Given the description of an element on the screen output the (x, y) to click on. 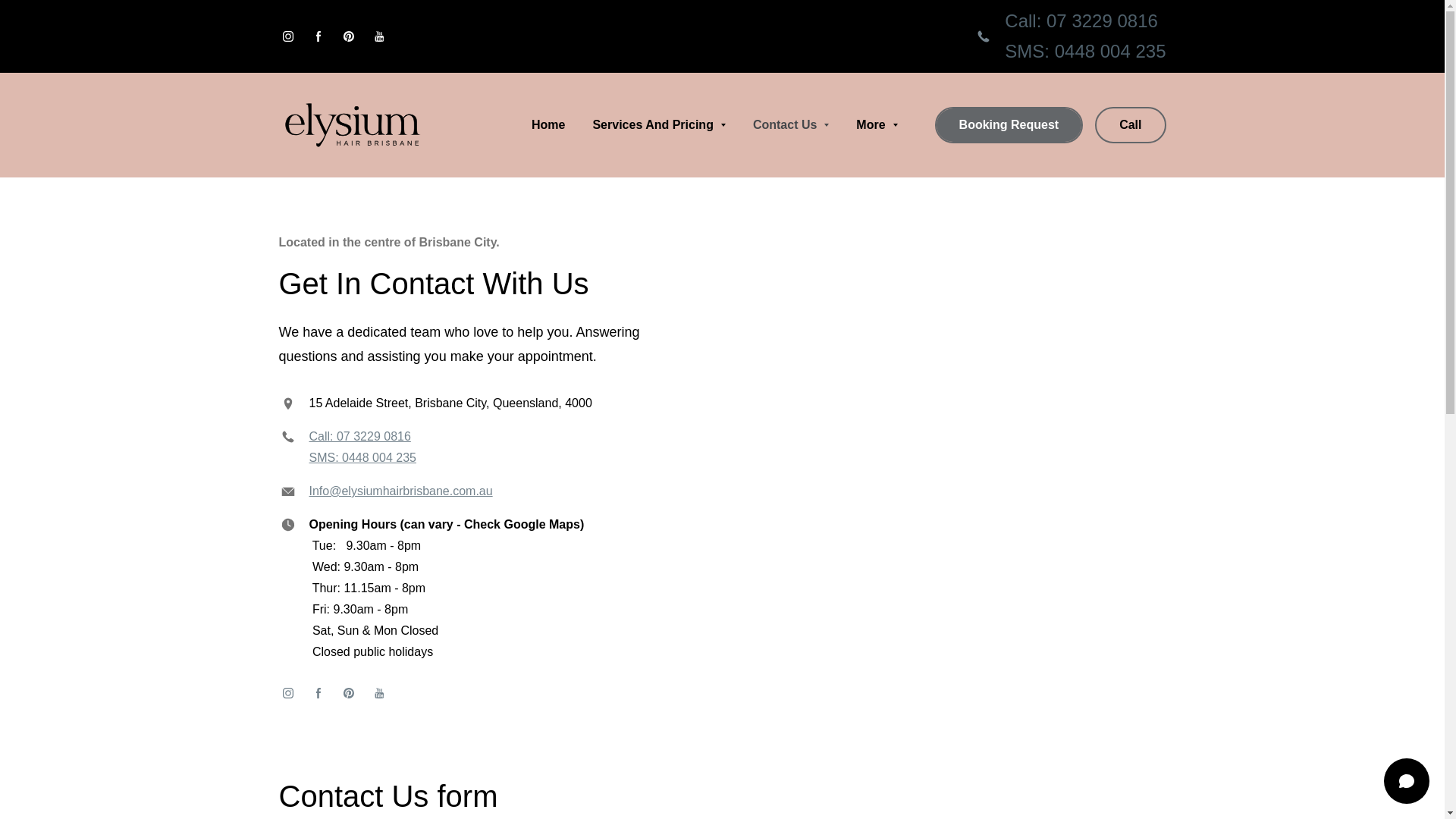
Call: 07 3229 0816 Element type: text (360, 435)
SMS: 0448 004 235 Element type: text (1084, 50)
Call Element type: text (1130, 124)
Call: 07 3229 0816 Element type: text (1080, 20)
Booking Request Element type: text (1009, 124)
Services And Pricing Element type: text (658, 124)
Contact Us Element type: text (790, 124)
SMS: 0448 004 235 Element type: text (362, 457)
Youtube A solid styled icon from Orion Icon Library. Element type: text (379, 693)
Home Element type: text (547, 124)
Youtube A solid styled icon from Orion Icon Library. Element type: text (379, 36)
More Element type: text (876, 124)
Info@elysiumhairbrisbane.com.au Element type: text (400, 490)
